Given the description of an element on the screen output the (x, y) to click on. 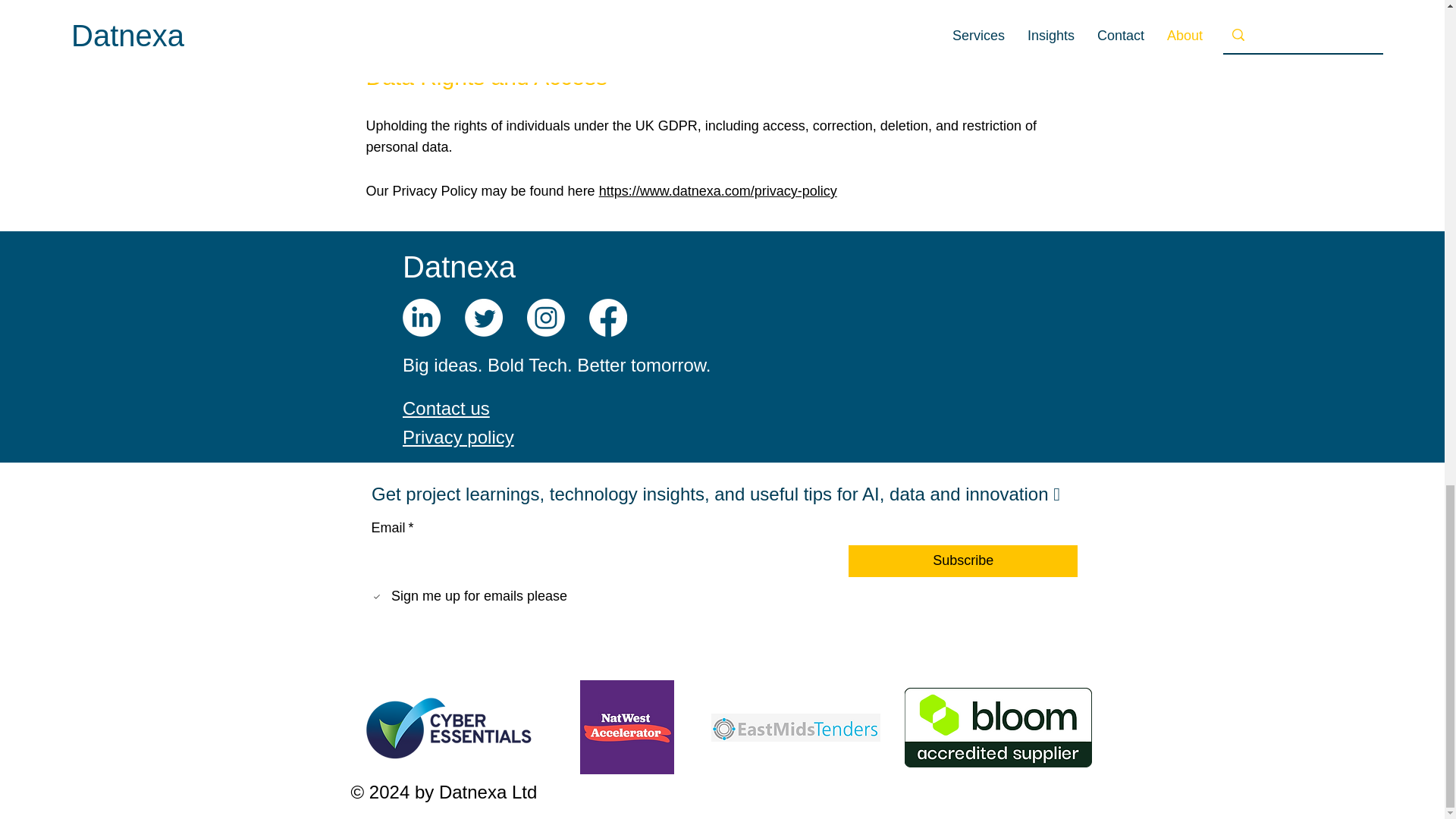
Privacy policy (458, 436)
Datnexa (459, 266)
Subscribe (963, 561)
BloomAccreditedSupplier.png (997, 727)
Contact us (446, 408)
